Given the description of an element on the screen output the (x, y) to click on. 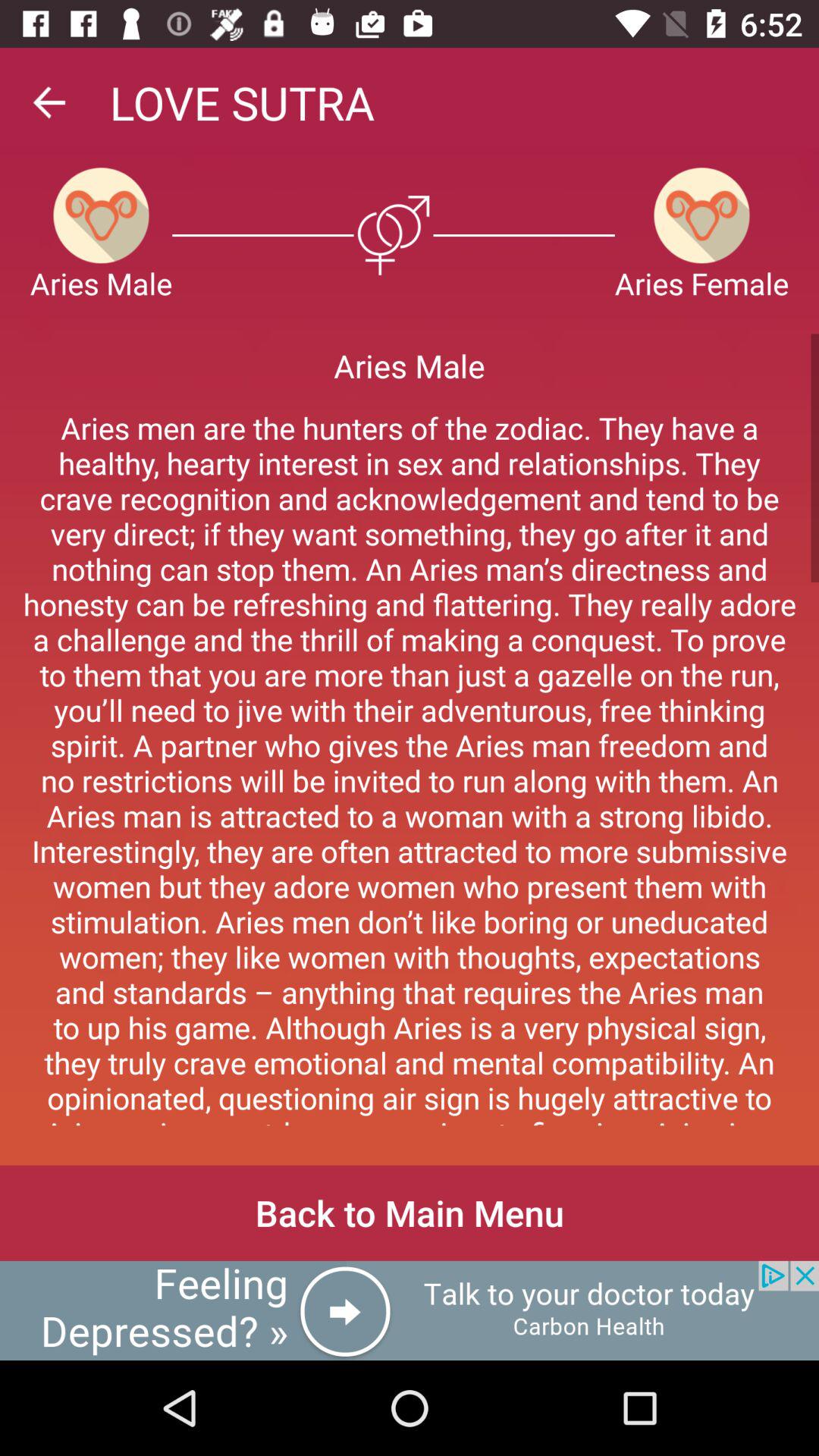
go back (49, 102)
